Given the description of an element on the screen output the (x, y) to click on. 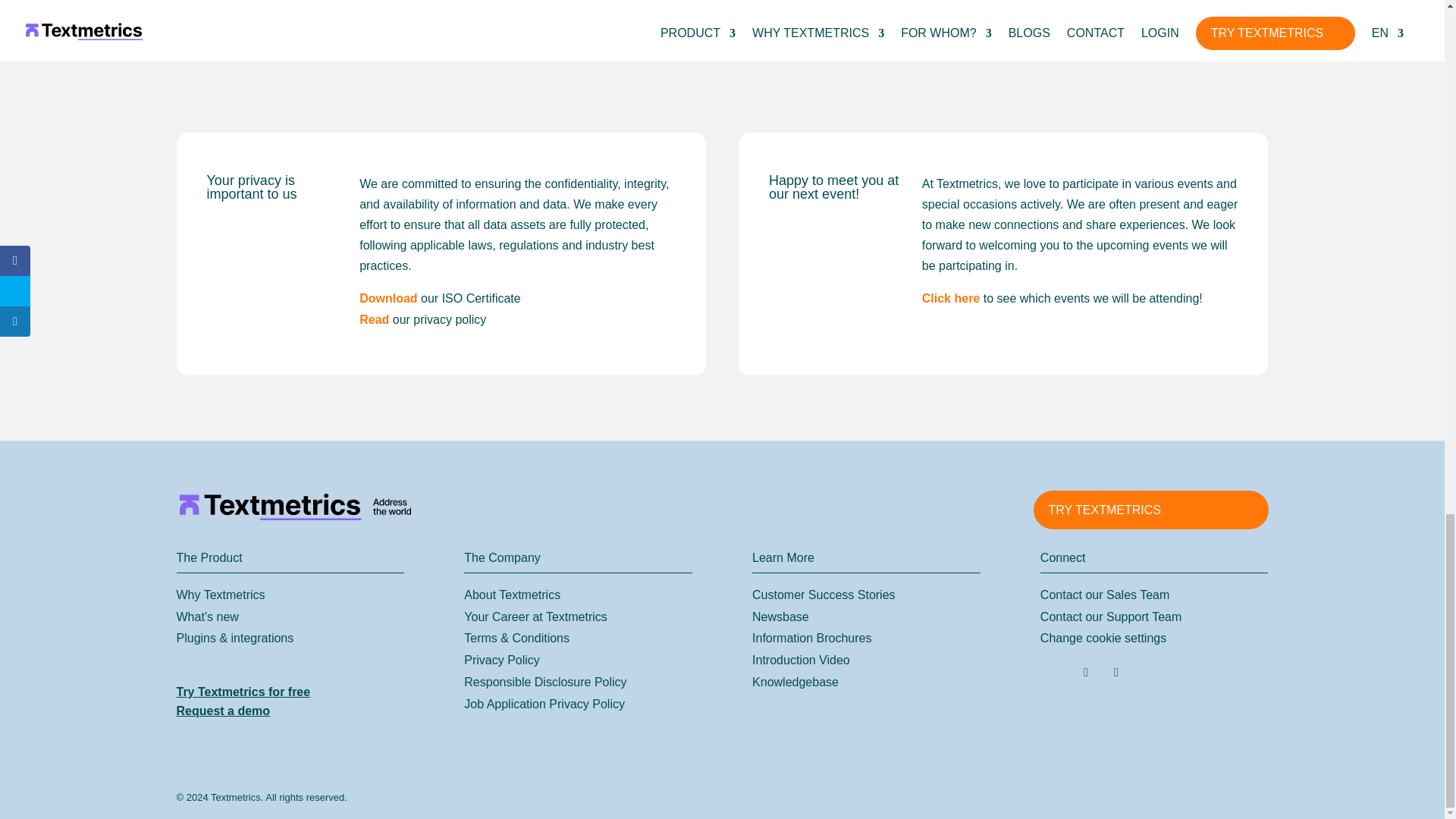
About Textmetrics (512, 594)
Why Textmetrics (220, 594)
TRY TEXTMETRICS (1150, 509)
Read (373, 318)
Click here (950, 297)
Download (387, 297)
Try Textmetrics for free (243, 692)
Your Career at Textmetrics (535, 616)
Request a demo (222, 710)
